Given the description of an element on the screen output the (x, y) to click on. 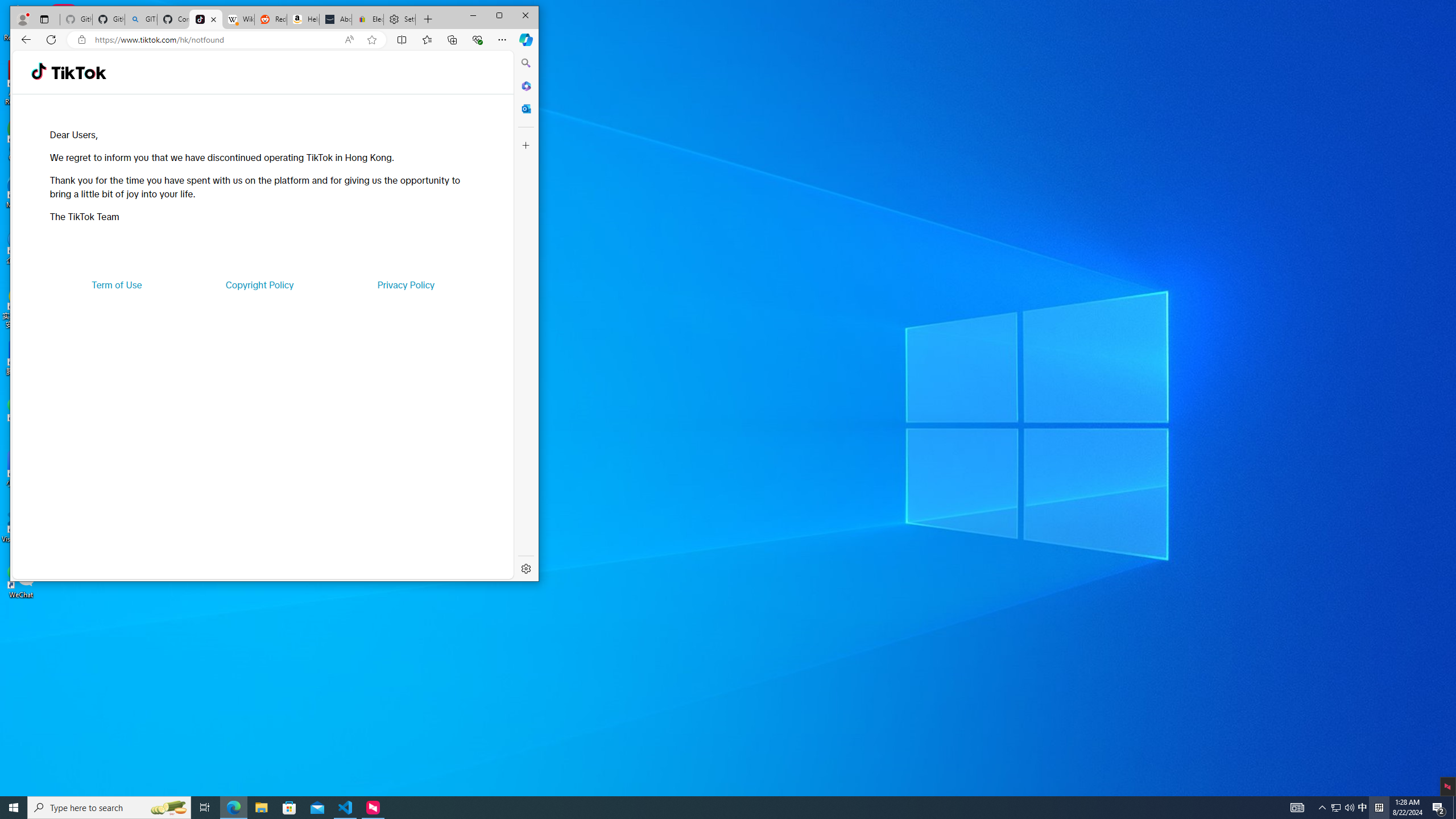
Electronics, Cars, Fashion, Collectibles & More | eBay (1362, 807)
Running applications (367, 19)
Visual Studio Code - 1 running window (707, 807)
GITHUB - Search (345, 807)
User Promoted Notification Area (140, 19)
